Given the description of an element on the screen output the (x, y) to click on. 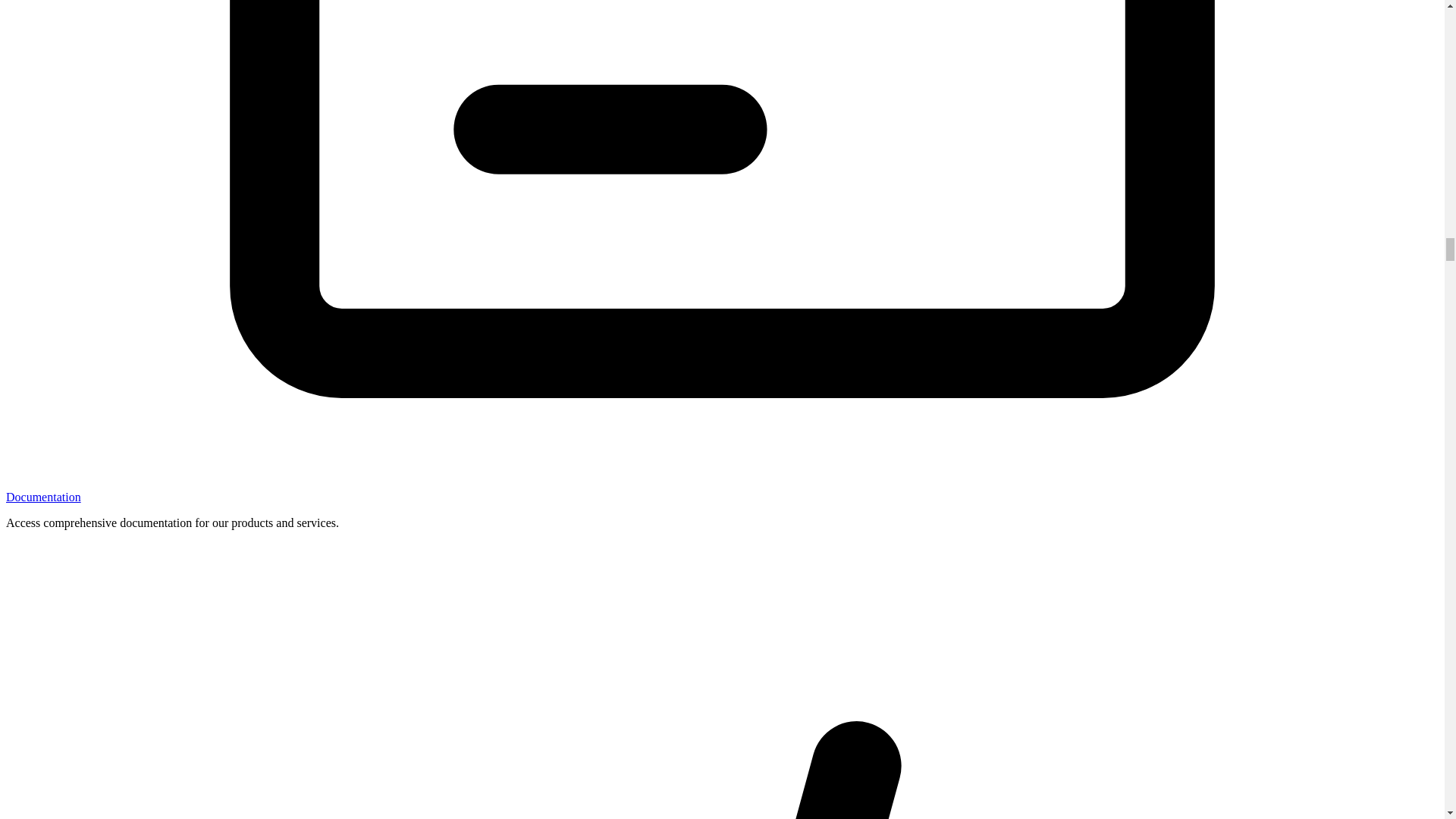
Documentation (43, 496)
Documentation (43, 496)
